Given the description of an element on the screen output the (x, y) to click on. 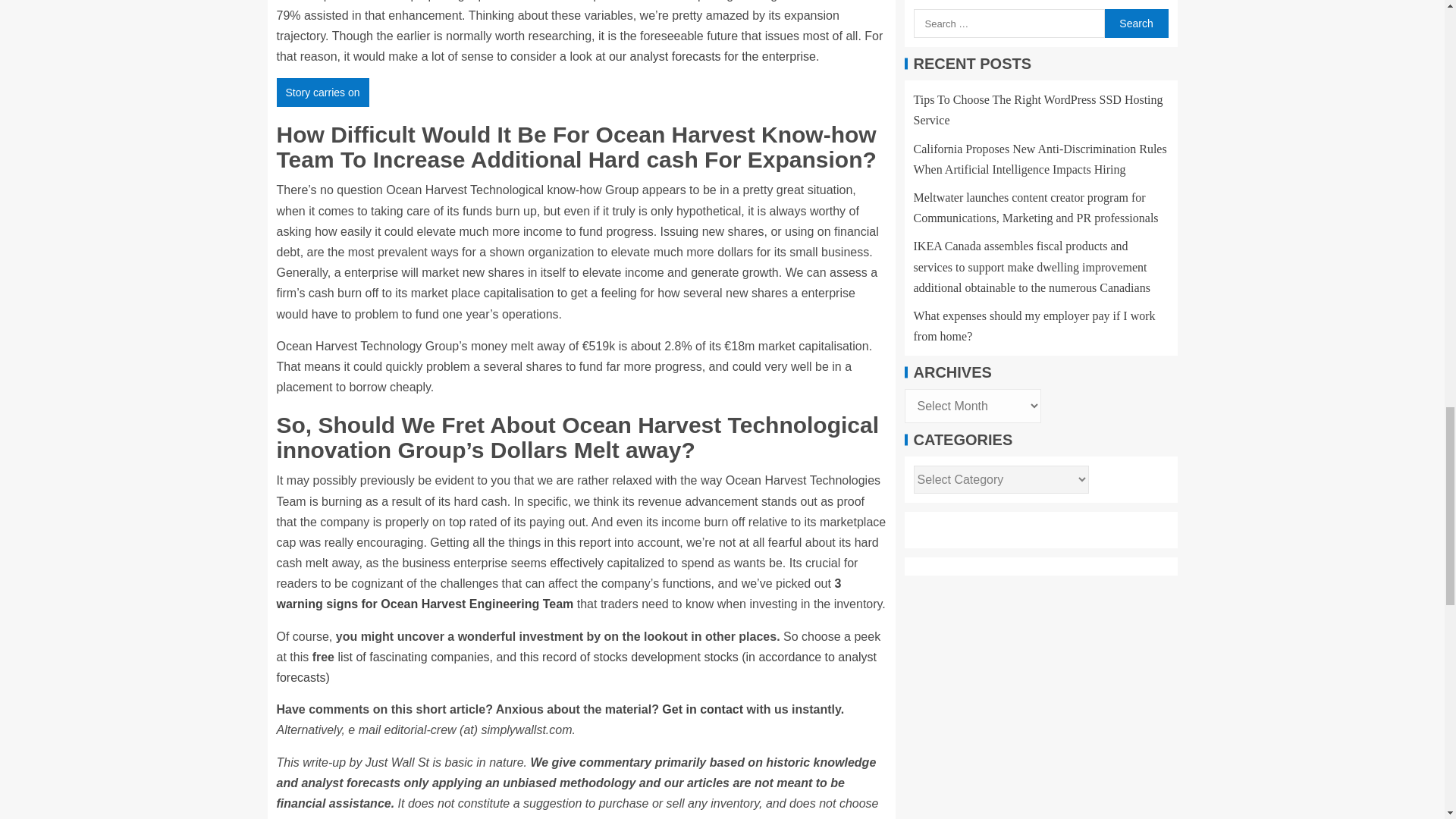
list of fascinating companies, (415, 656)
our analyst forecasts for the enterprise (711, 56)
Get in contact (702, 708)
3 warning signs for Ocean Harvest Engineering Team (558, 593)
Story carries on (322, 92)
